Given the description of an element on the screen output the (x, y) to click on. 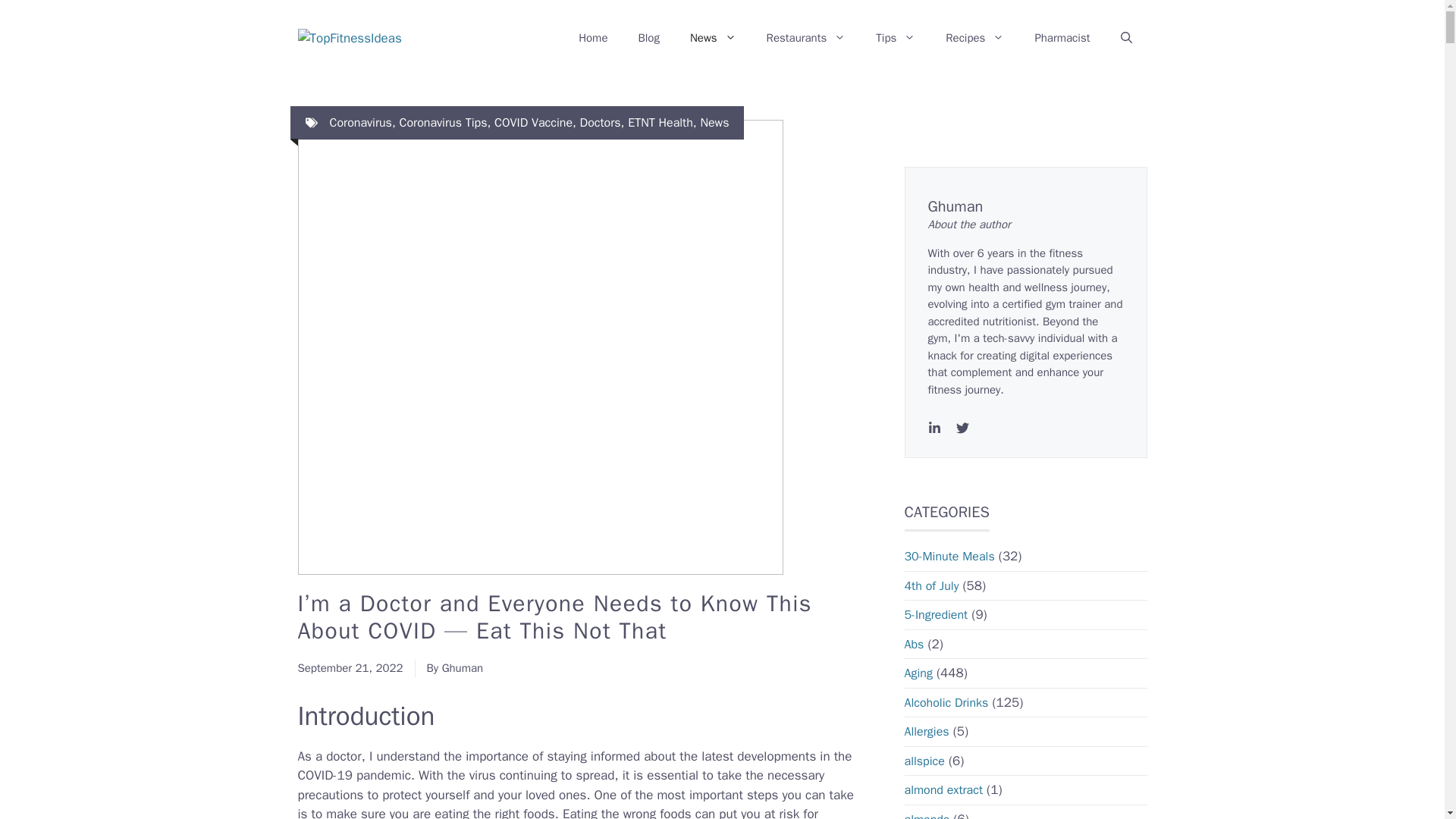
Restaurants (806, 37)
Blog (648, 37)
News (713, 37)
Home (593, 37)
Recipes (974, 37)
Tips (895, 37)
